Given the description of an element on the screen output the (x, y) to click on. 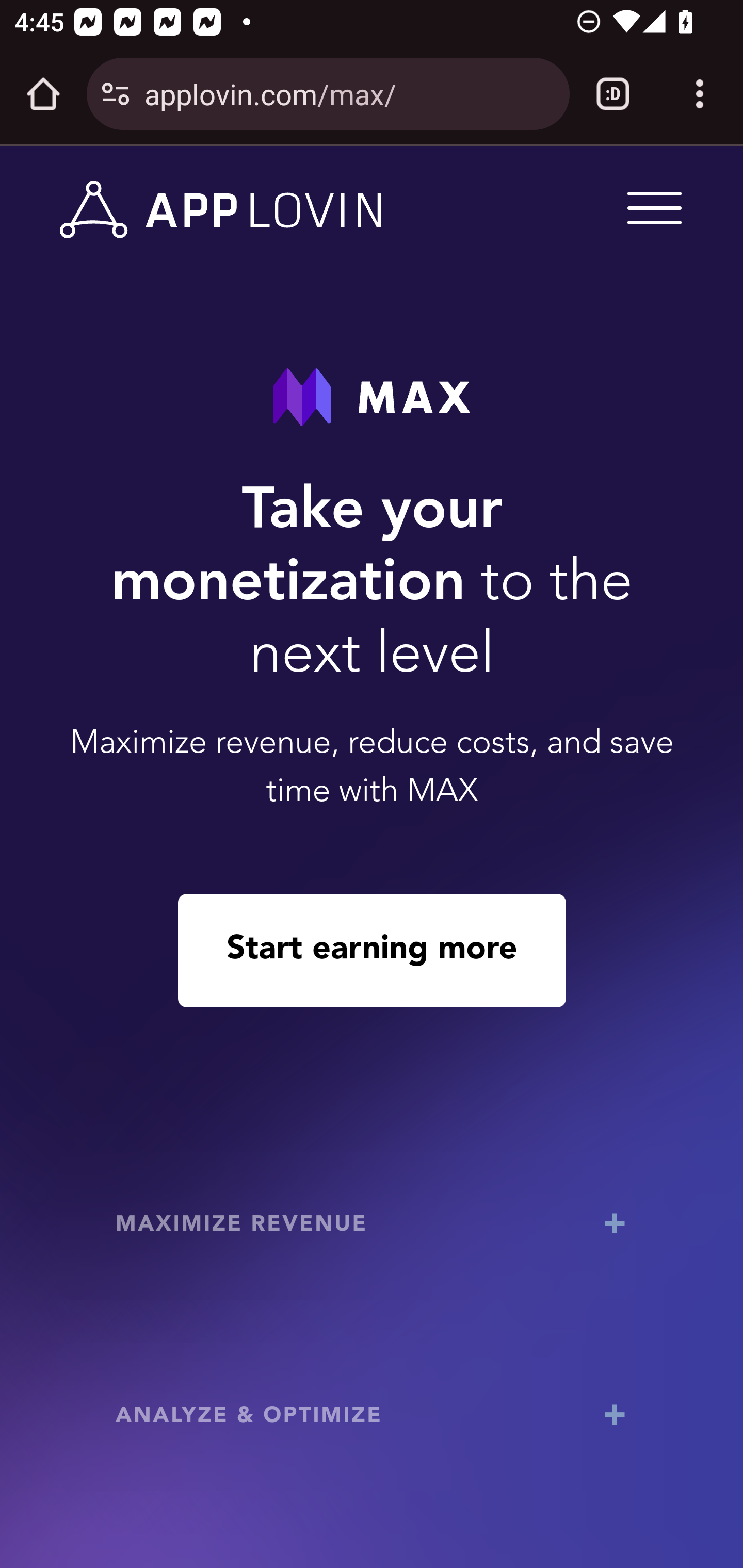
Open the home page (43, 93)
Connection is secure (115, 93)
Switch or close tabs (612, 93)
Customize and control Google Chrome (699, 93)
applovin.com/max/ (349, 92)
Menu Trigger (650, 207)
www.applovin (220, 209)
Start earning more (371, 950)
